Given the description of an element on the screen output the (x, y) to click on. 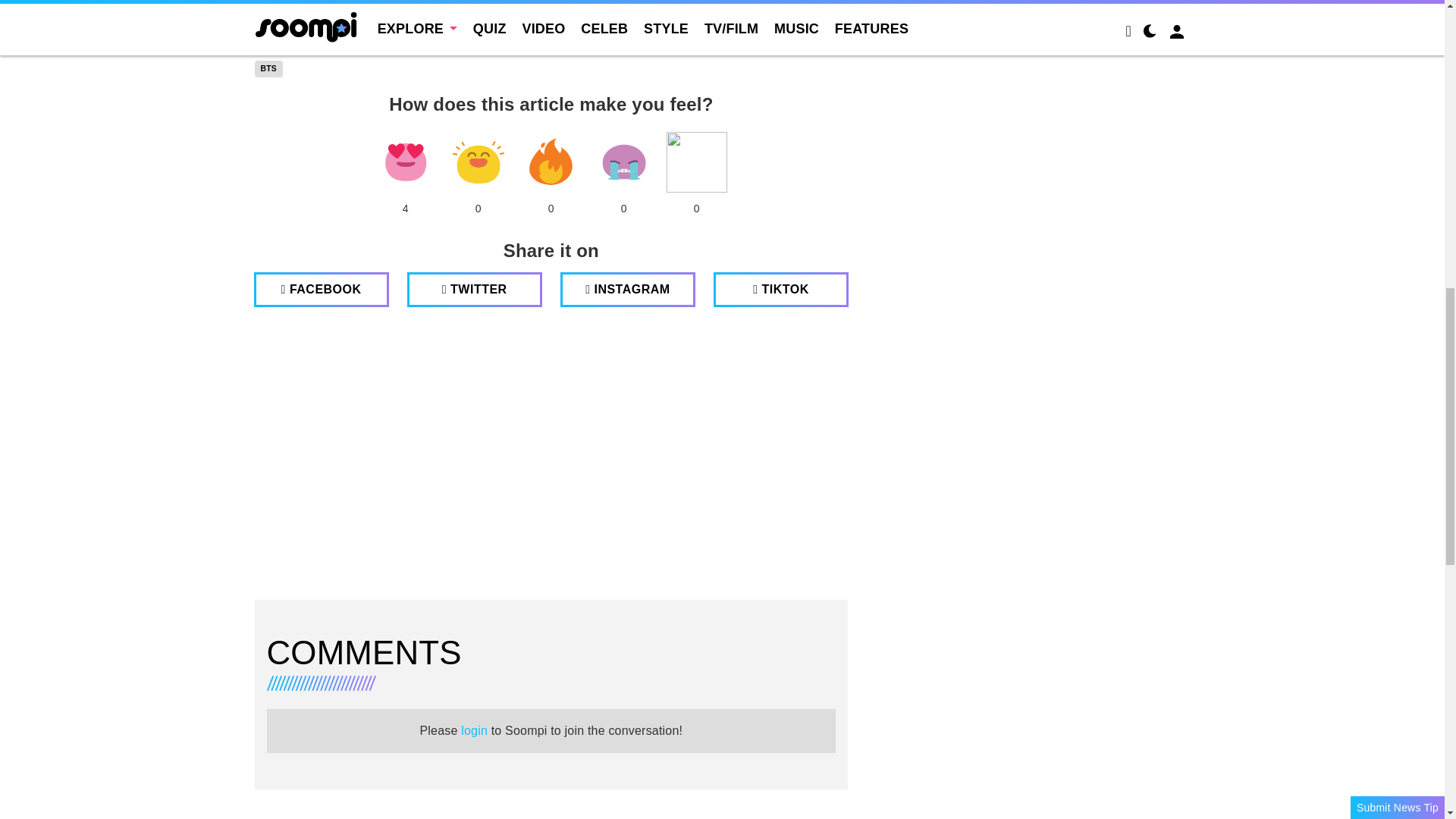
Crying (623, 161)
FACEBOOK (320, 289)
Heart (405, 161)
Fire (550, 161)
omg (696, 161)
LOL (478, 161)
BTS (268, 68)
fire (550, 161)
lol (478, 161)
heart (405, 161)
BTS (268, 68)
OMG (696, 161)
TWITTER (474, 289)
INSTAGRAM (627, 289)
cry (623, 161)
